Given the description of an element on the screen output the (x, y) to click on. 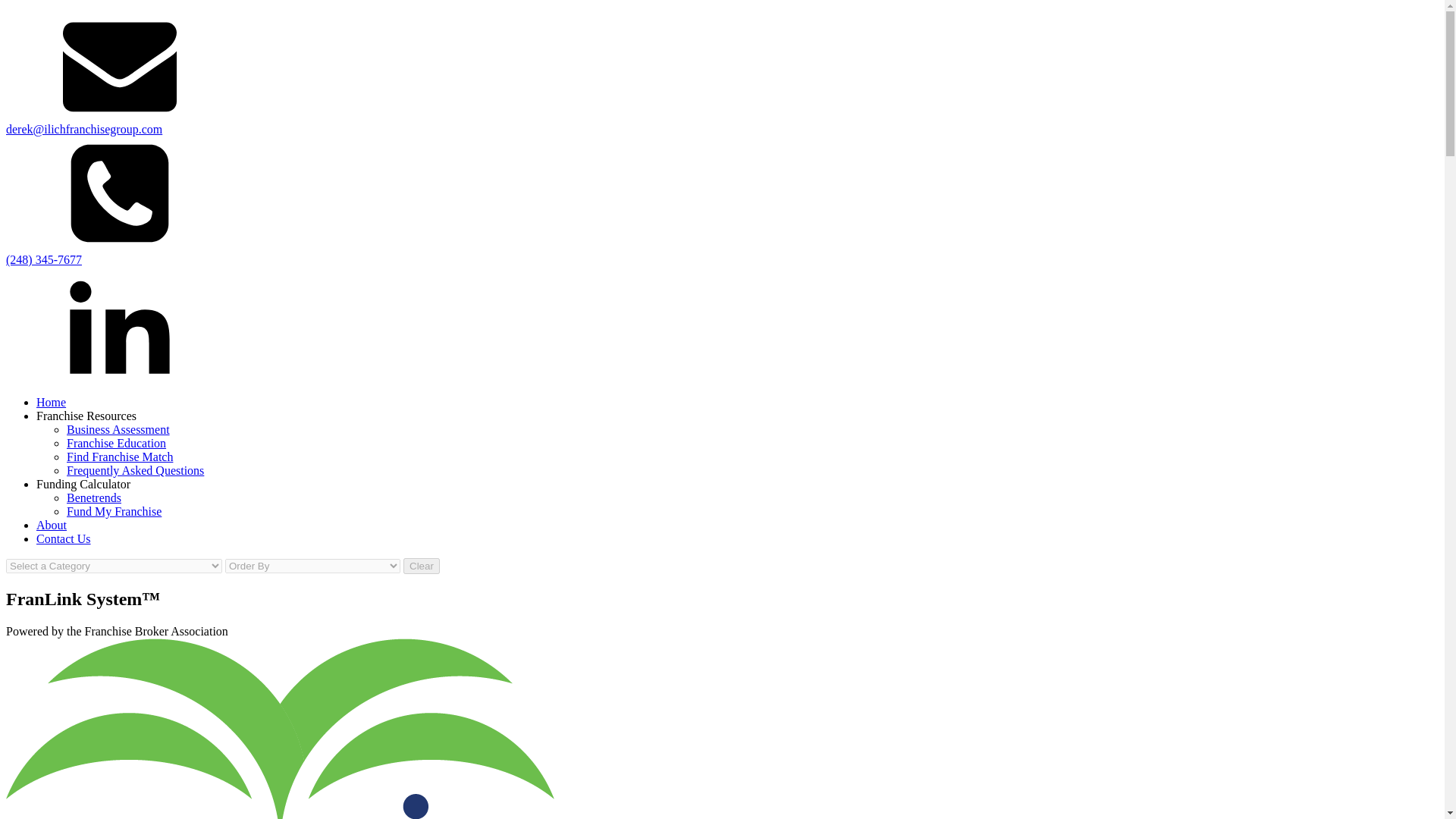
Visit our LinkedIn (118, 323)
Franchise Resources (86, 415)
Franchise Education (115, 442)
Clear (421, 565)
Home (50, 401)
Find Franchise Match (119, 456)
Fund My Franchise (113, 511)
Contact Us (63, 538)
Visit our LinkedIn (118, 376)
About (51, 524)
